Given the description of an element on the screen output the (x, y) to click on. 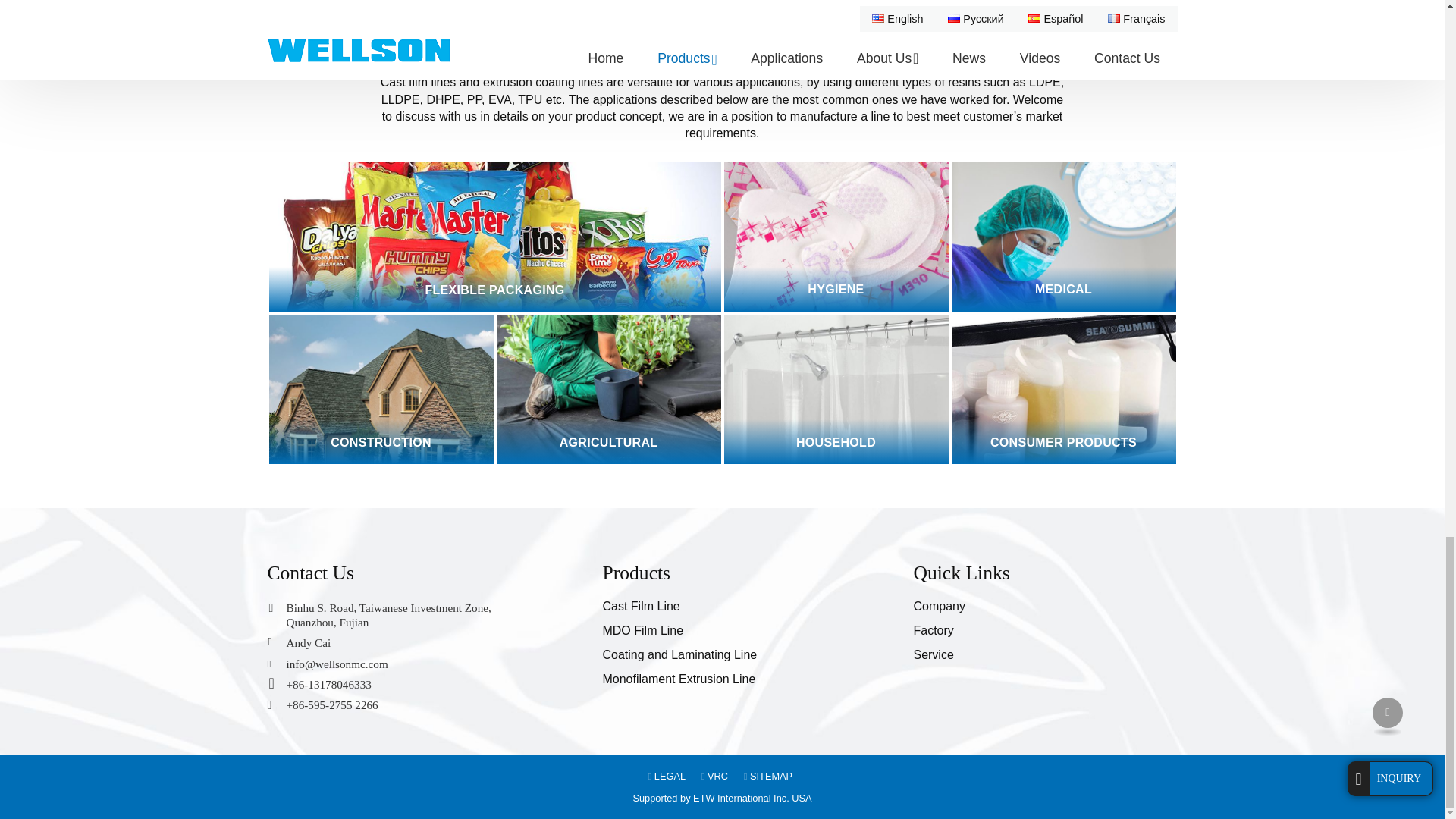
ETW legal profile (666, 776)
ETW SITEMAP (767, 776)
